Given the description of an element on the screen output the (x, y) to click on. 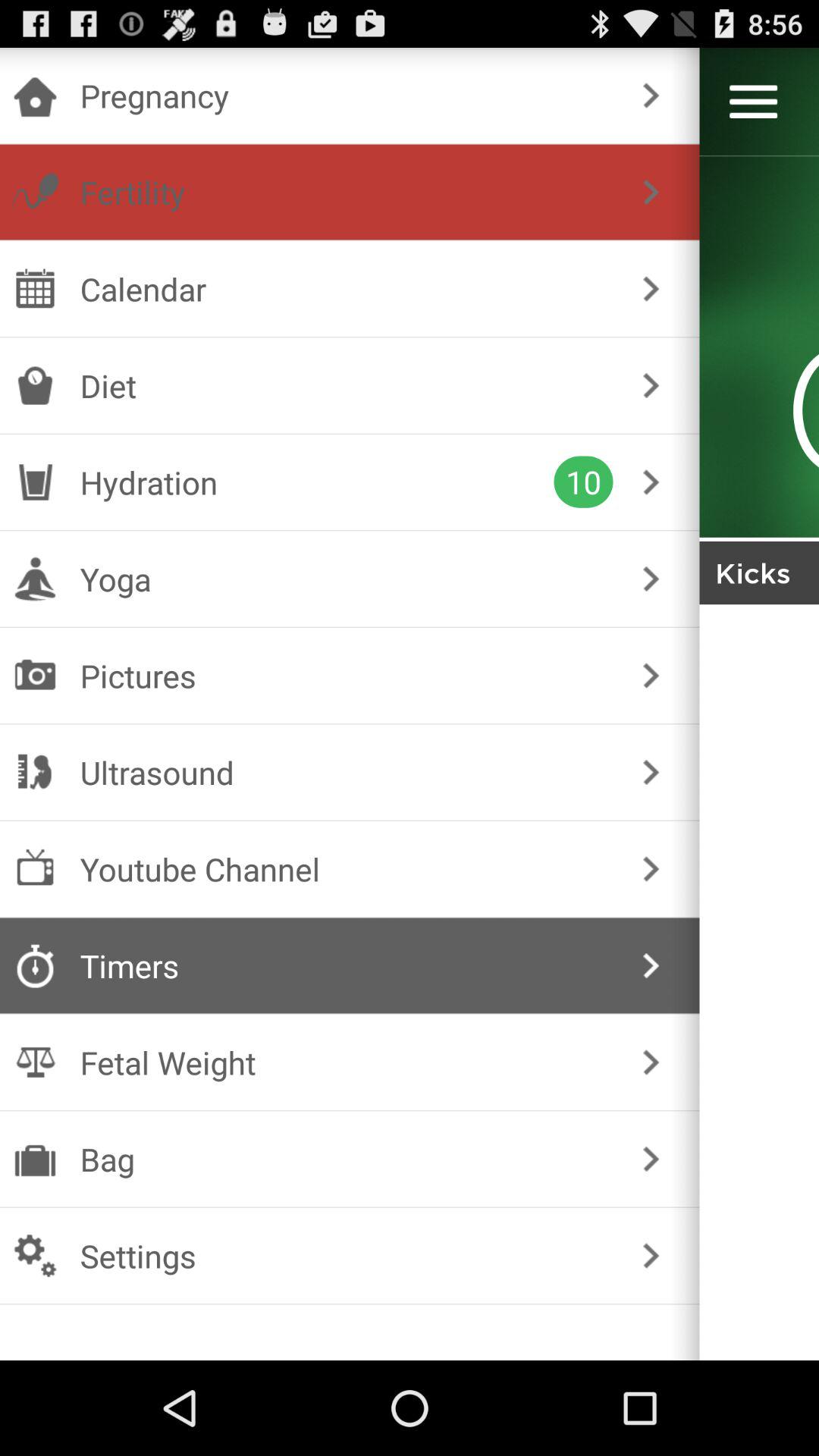
drop down selection menu (753, 101)
